Given the description of an element on the screen output the (x, y) to click on. 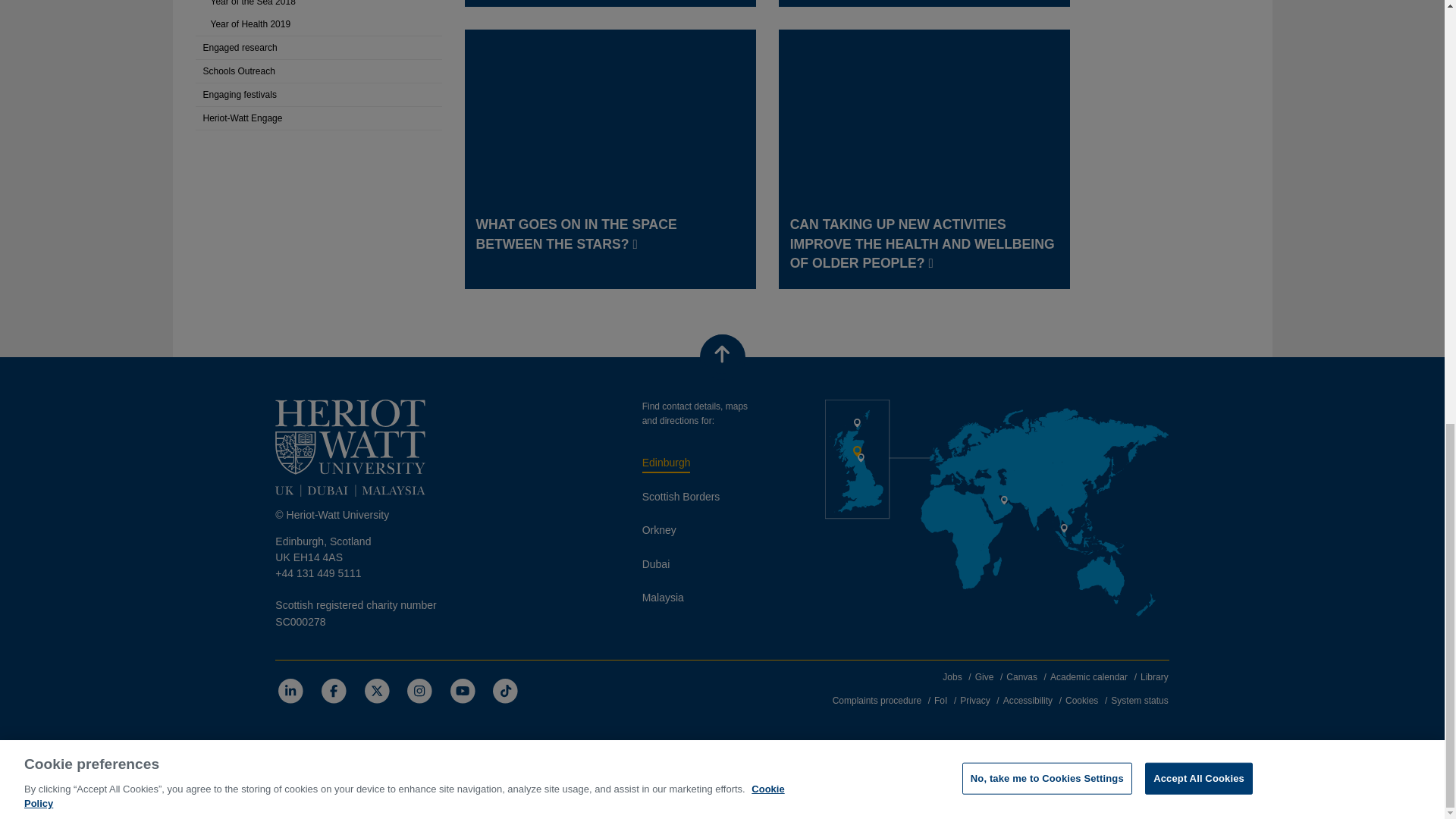
TikTok (505, 690)
Twitter (376, 690)
Instagram (419, 690)
LinkedIn (290, 690)
YouTube (462, 690)
Facebook (334, 690)
